Given the description of an element on the screen output the (x, y) to click on. 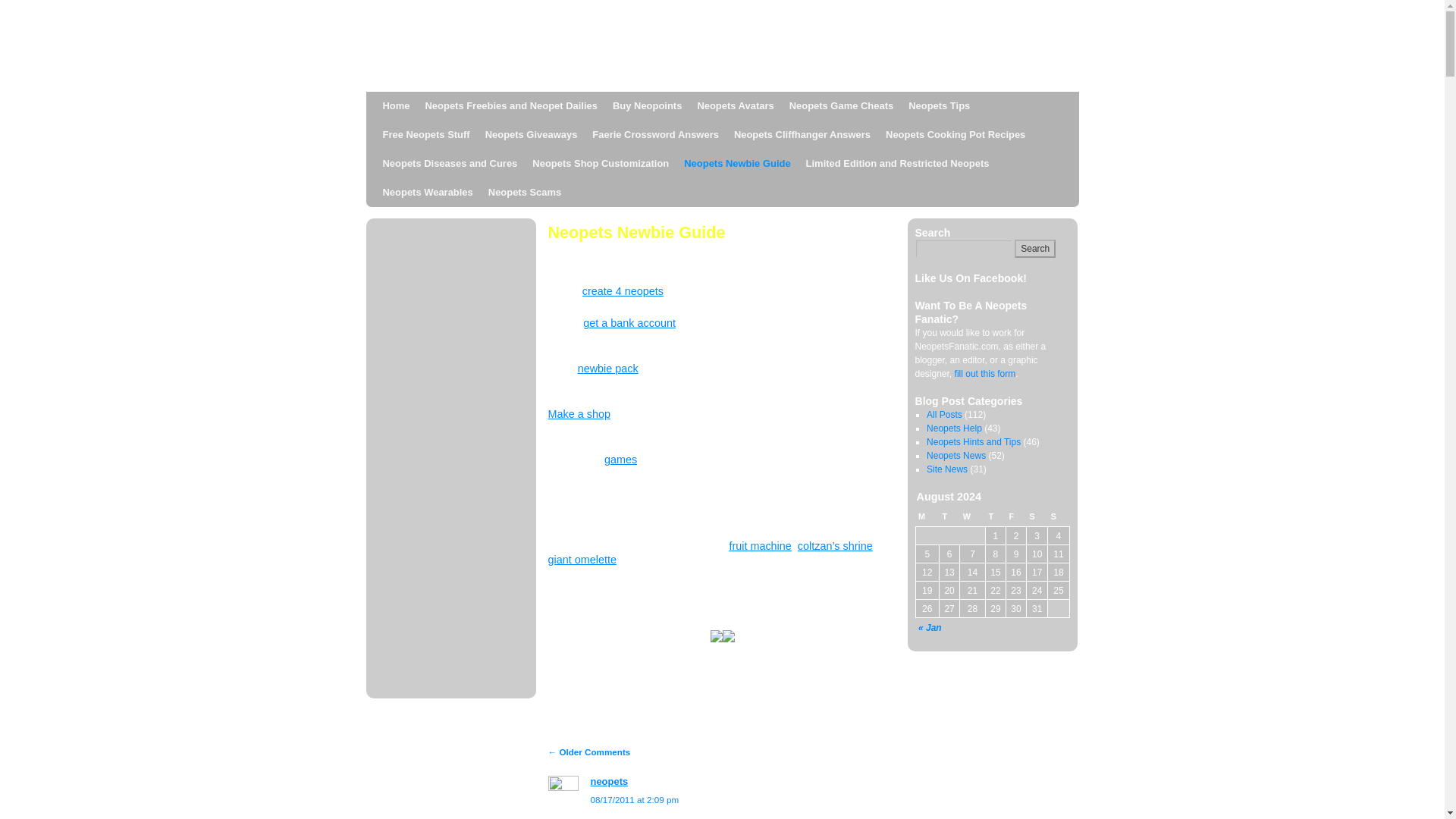
giant omelette (581, 559)
Neopets Wearables (427, 192)
Neopets Shop Customization (600, 163)
Neopets Cooking Pot Recipes (954, 134)
Faerie Crossword Answers (655, 134)
Thursday (995, 516)
Neopets Freebies and Neopet Dailies (510, 105)
Neopets Newbie Guide (737, 163)
Free Neopets Stuff (425, 134)
Neopets Tips (938, 105)
